Given the description of an element on the screen output the (x, y) to click on. 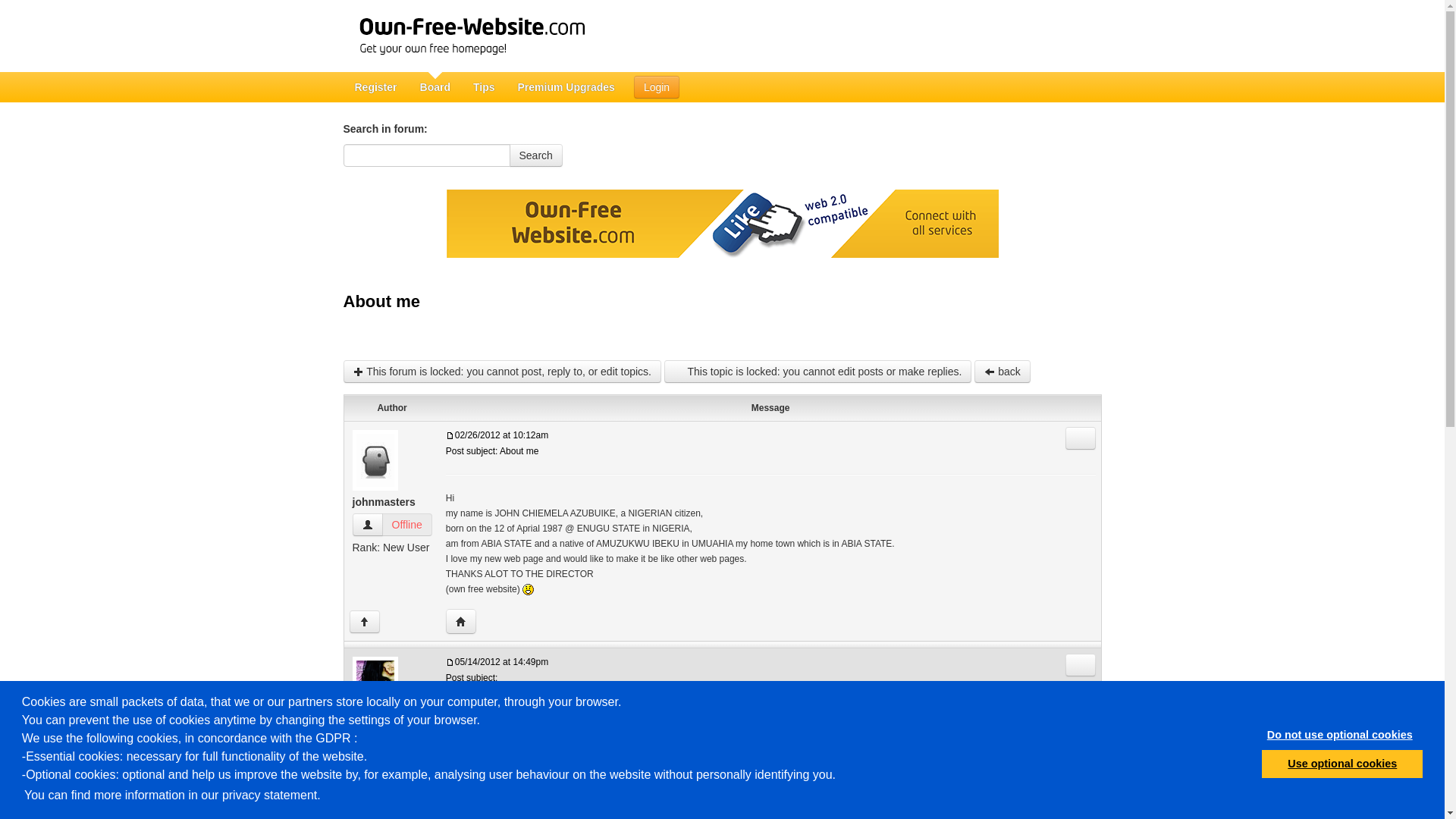
This topic is locked: you cannot edit posts or make replies. (817, 371)
Login (656, 87)
This topic is locked: you cannot edit posts or make replies. (817, 371)
Visit poster's website: johnmasters (460, 621)
Board - own-free-website.com (435, 87)
Premium Upgrades - own-free-website.com (566, 87)
Post (449, 662)
Visit poster's website (460, 621)
Board (435, 87)
